Given the description of an element on the screen output the (x, y) to click on. 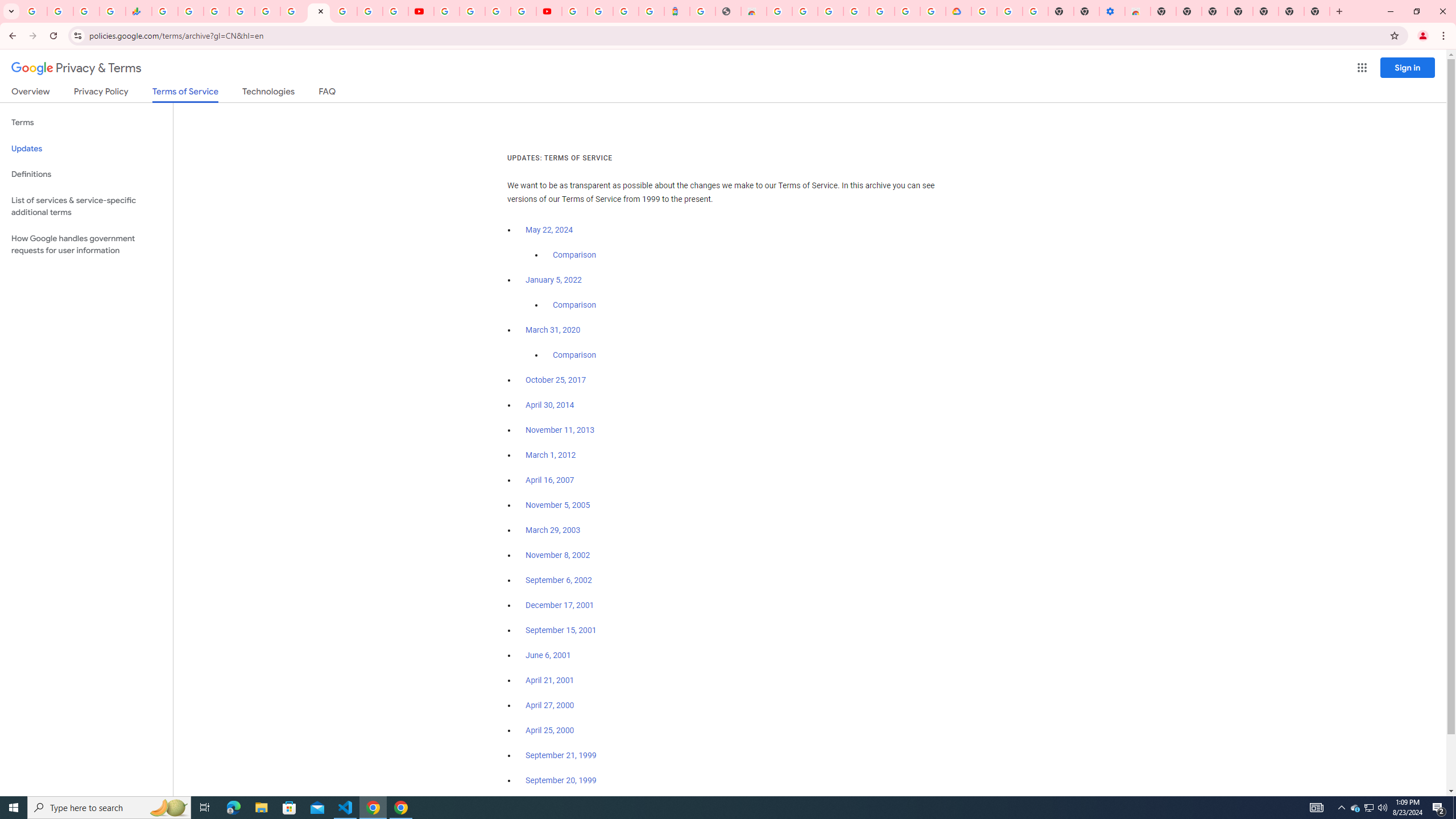
December 17, 2001 (559, 605)
January 5, 2022 (553, 280)
YouTube (421, 11)
Ad Settings (804, 11)
Sign in - Google Accounts (907, 11)
How Google handles government requests for user information (86, 244)
Create your Google Account (497, 11)
November 11, 2013 (560, 430)
March 31, 2020 (552, 330)
